Given the description of an element on the screen output the (x, y) to click on. 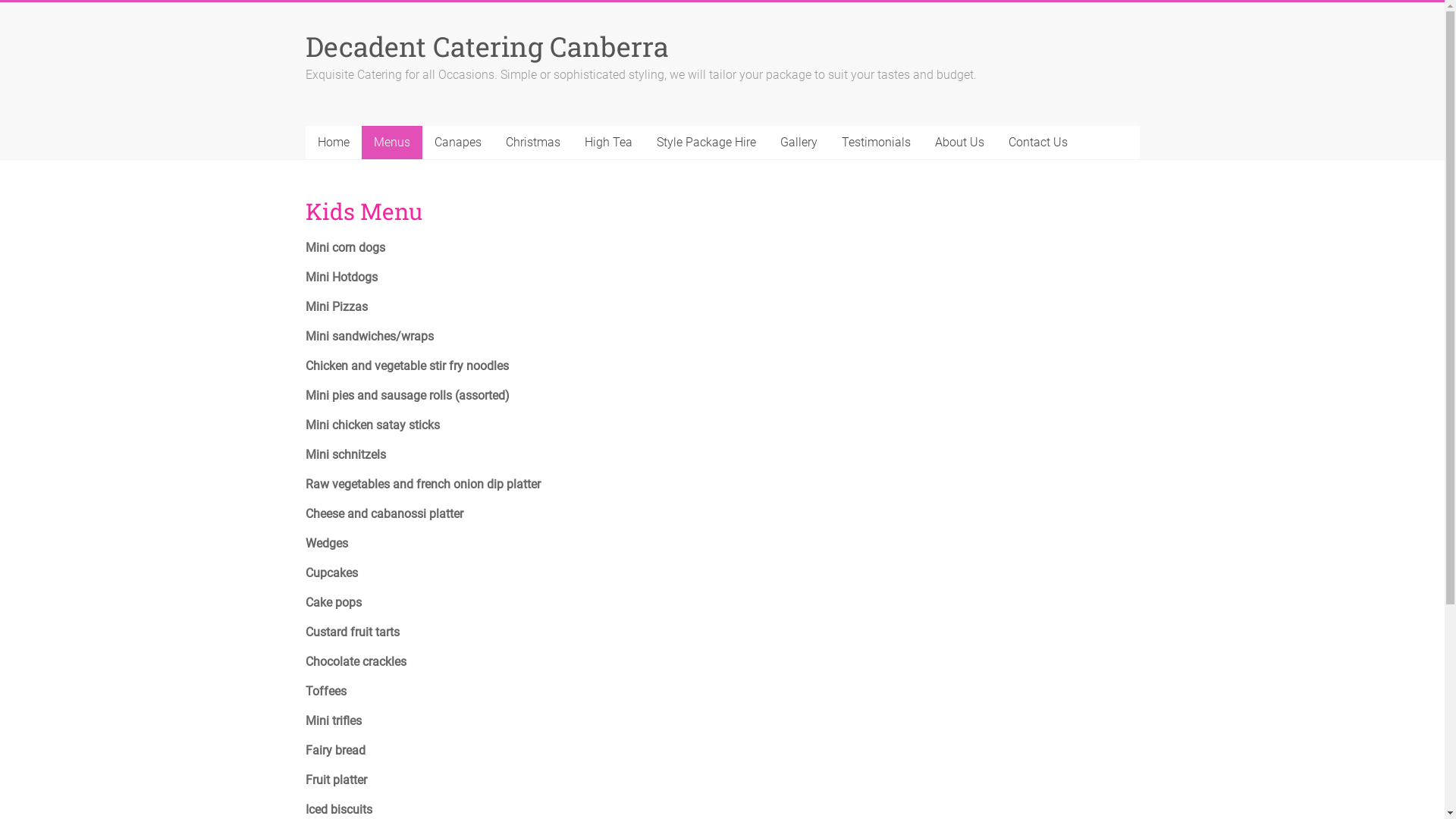
Contact Us Element type: text (1037, 142)
Style Package Hire Element type: text (706, 142)
Menus Element type: text (390, 142)
About Us Element type: text (958, 142)
Canapes Element type: text (456, 142)
Decadent Catering Canberra Element type: text (486, 46)
Home Element type: text (332, 142)
High Tea Element type: text (607, 142)
Gallery Element type: text (797, 142)
Testimonials Element type: text (875, 142)
Christmas Element type: text (531, 142)
